Given the description of an element on the screen output the (x, y) to click on. 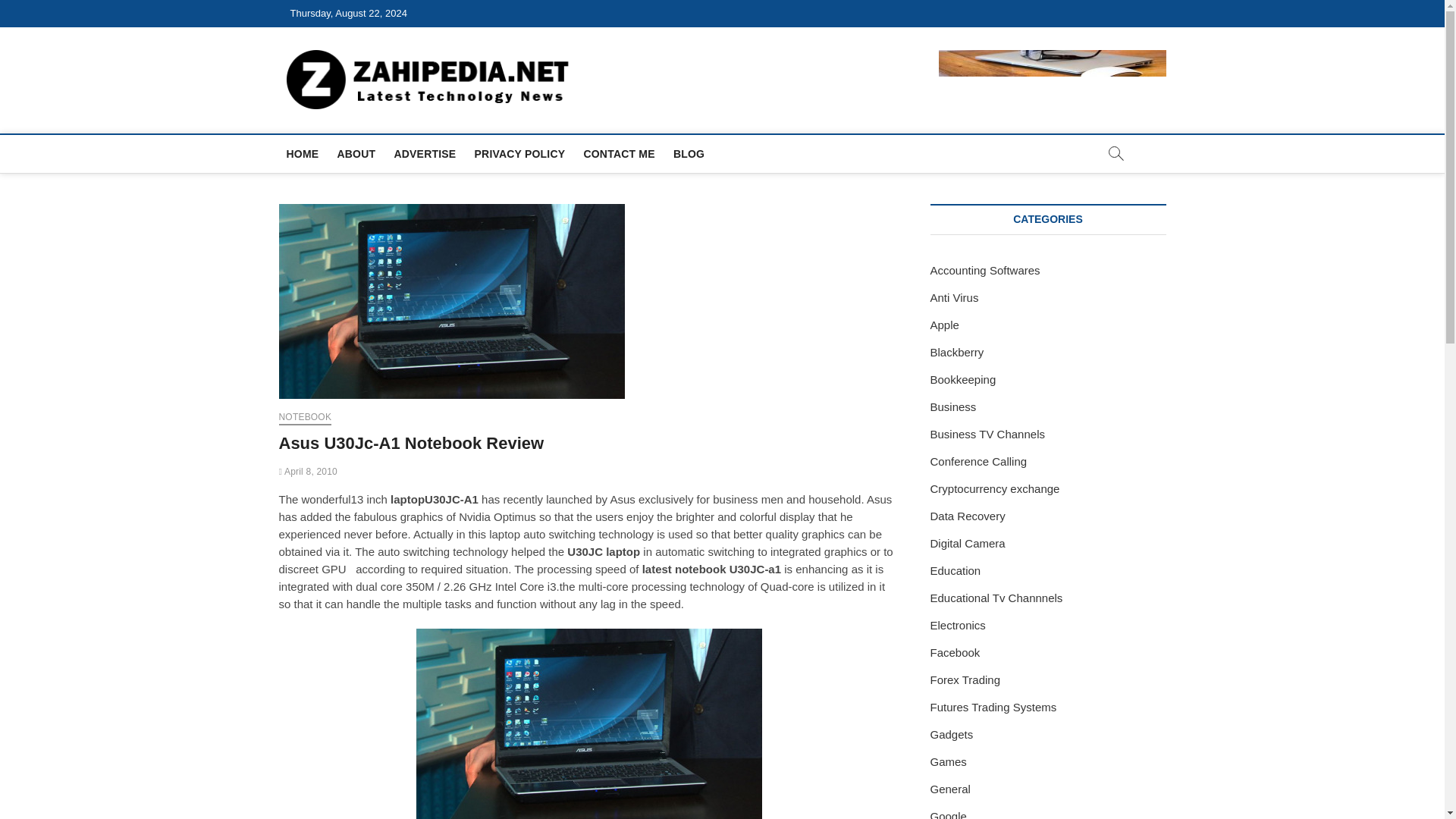
April 8, 2010 (308, 471)
ABOUT (355, 153)
Electronics (957, 625)
BLOG (688, 153)
Cryptocurrency exchange (994, 488)
NOTEBOOK (305, 418)
Education (954, 570)
Facebook (954, 652)
Accounting Softwares (984, 269)
ADVERTISE (424, 153)
